Given the description of an element on the screen output the (x, y) to click on. 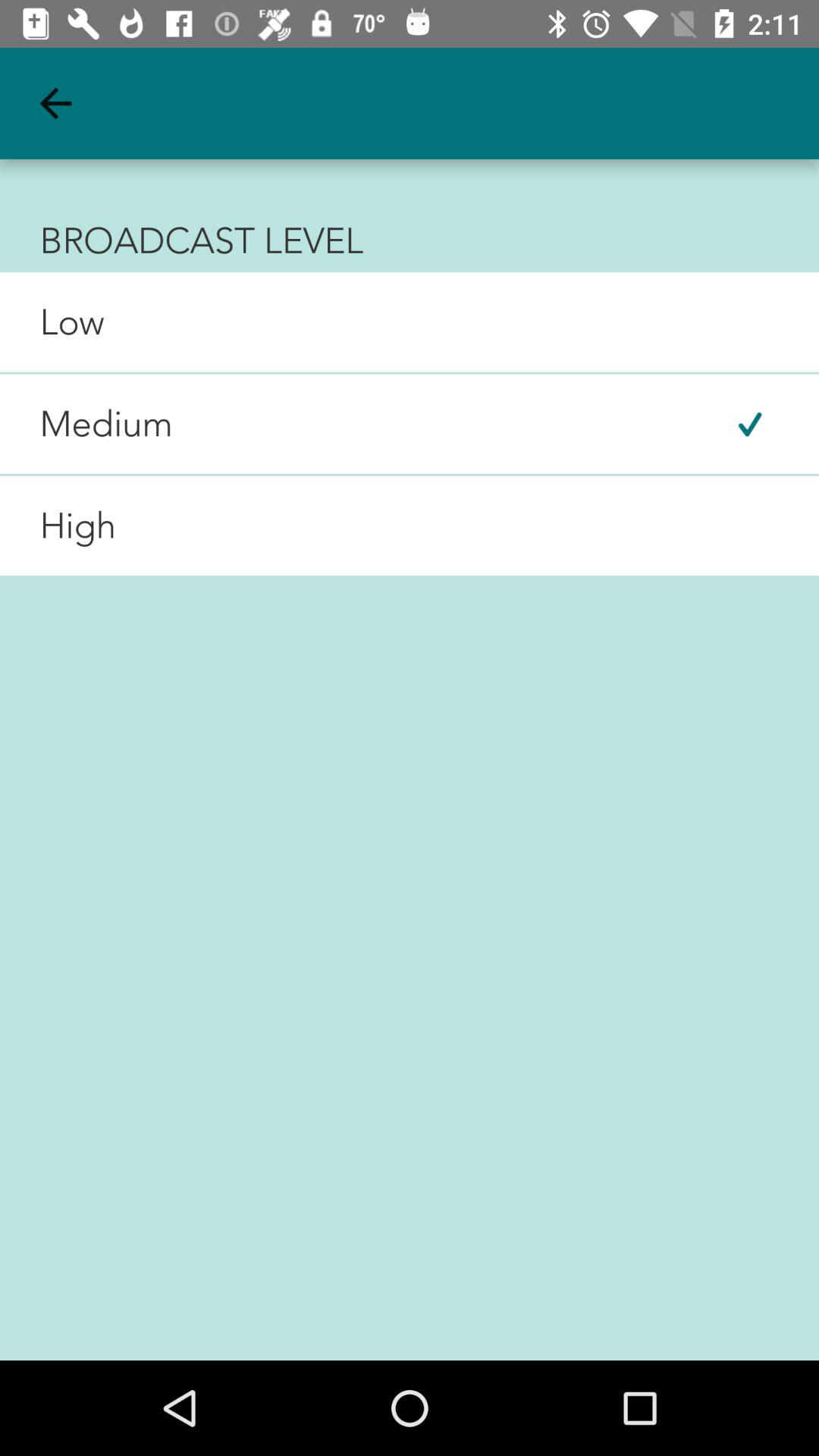
turn on item below the low (86, 423)
